Given the description of an element on the screen output the (x, y) to click on. 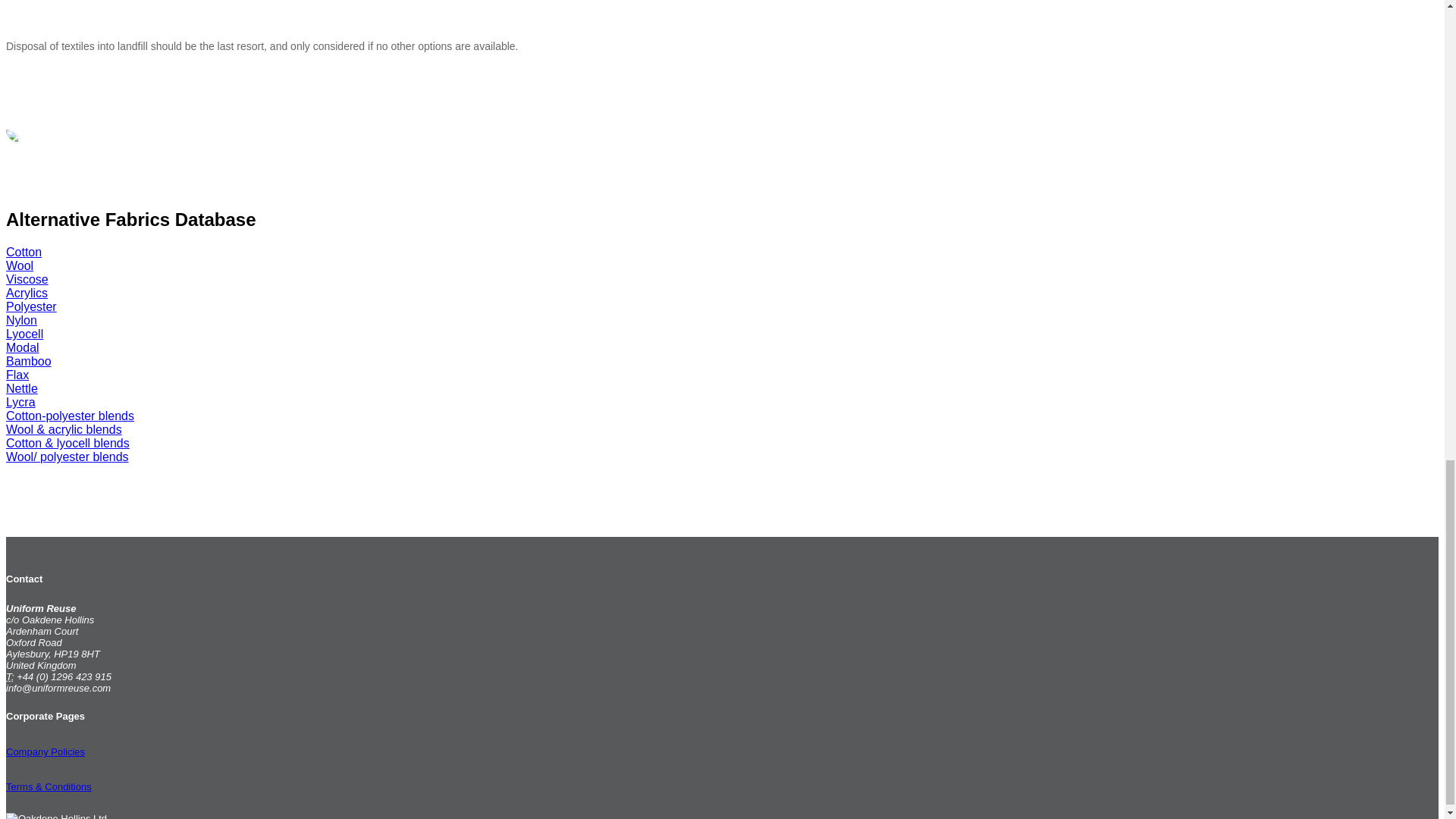
Flax (17, 374)
Lyocell (24, 333)
Phone (9, 676)
Company Policies (44, 751)
Lycra (19, 401)
Nylon (21, 319)
Wool (19, 265)
Cotton (23, 251)
Acrylics (26, 292)
Bamboo (27, 360)
Cotton-polyester blends (69, 415)
Modal (22, 347)
Viscose (26, 278)
Nettle (21, 388)
Polyester (30, 306)
